Given the description of an element on the screen output the (x, y) to click on. 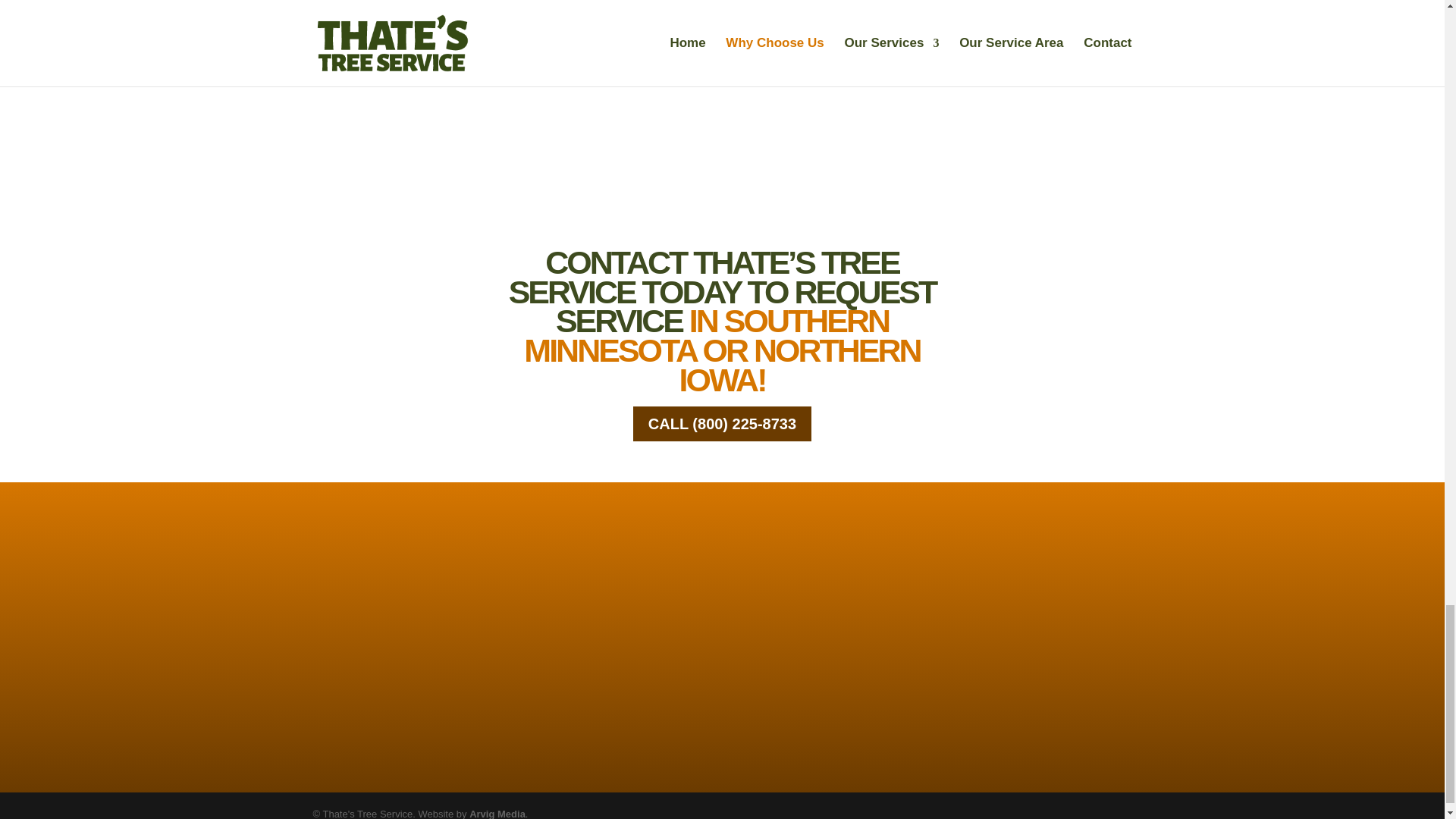
Arvig Media (496, 813)
IN SOUTHERN MINNESOTA OR NORTHERN IOWA! (722, 349)
